Given the description of an element on the screen output the (x, y) to click on. 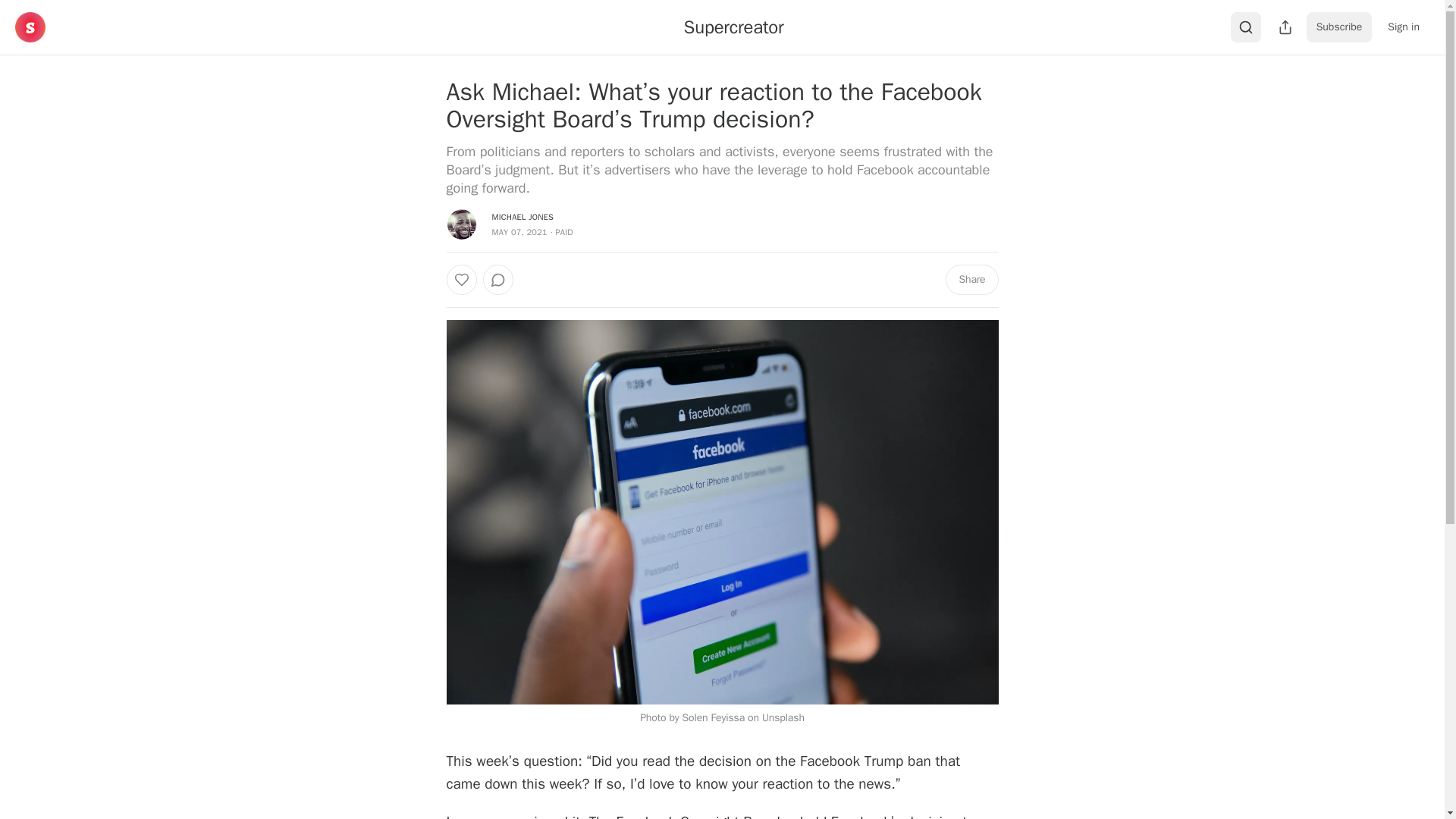
Supercreator (734, 26)
Share (970, 279)
MICHAEL JONES (522, 216)
Sign in (1403, 27)
Subscribe (1339, 27)
